Given the description of an element on the screen output the (x, y) to click on. 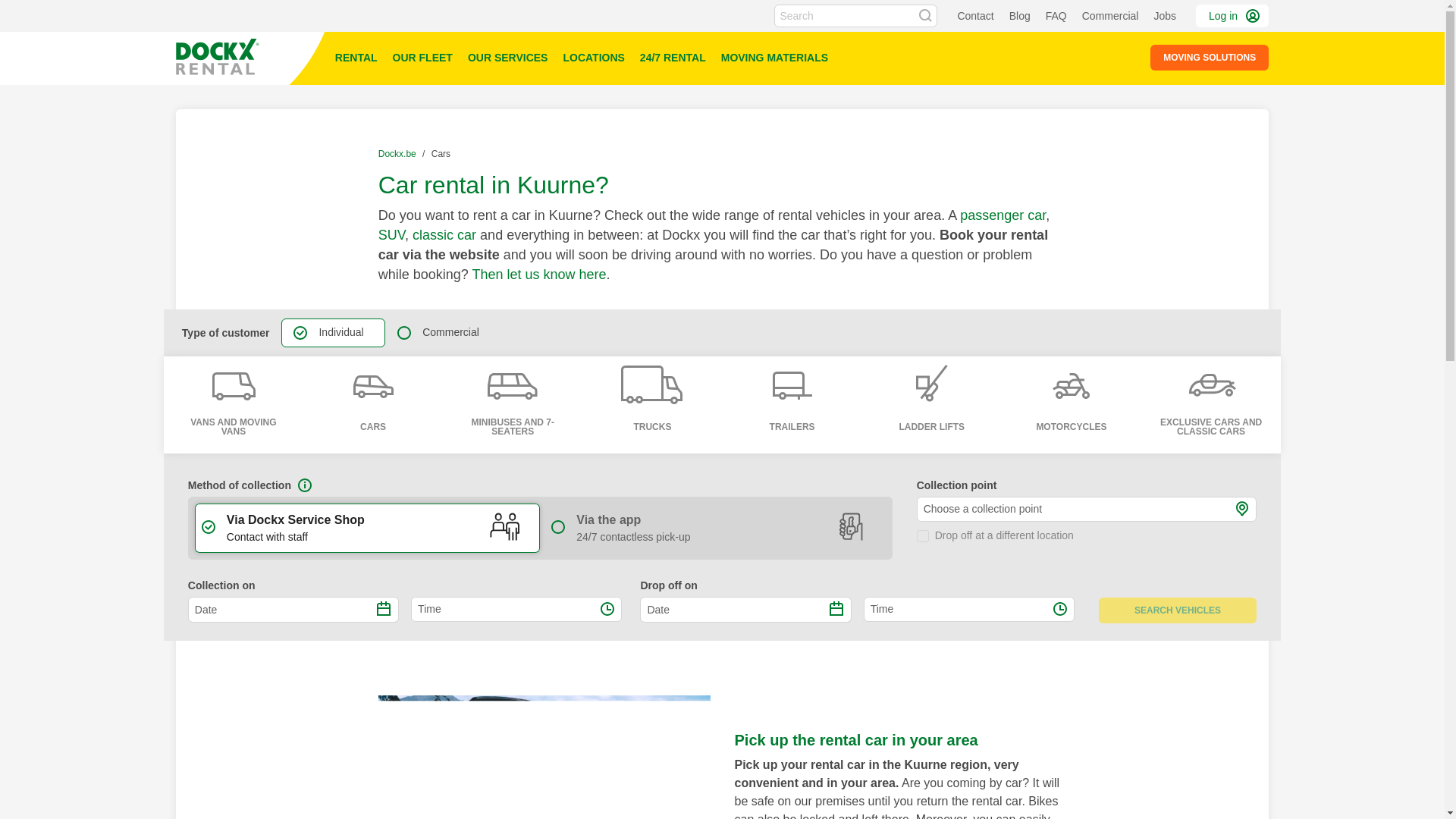
Log in (1231, 15)
OUR SERVICES (508, 57)
Blog (1019, 15)
Fratello DEMO (251, 57)
Dockx.be (398, 153)
